Given the description of an element on the screen output the (x, y) to click on. 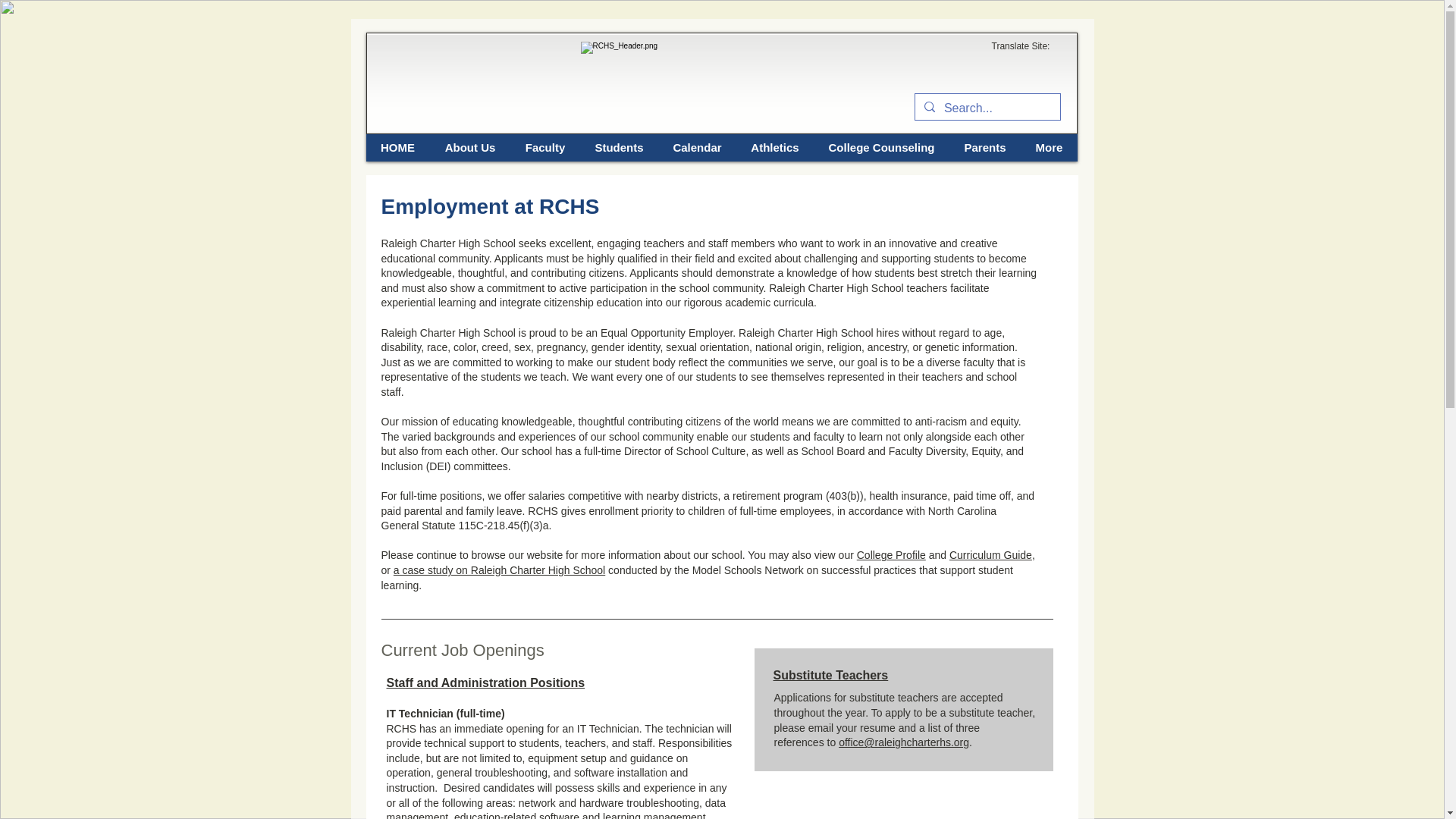
HOME (397, 147)
